Given the description of an element on the screen output the (x, y) to click on. 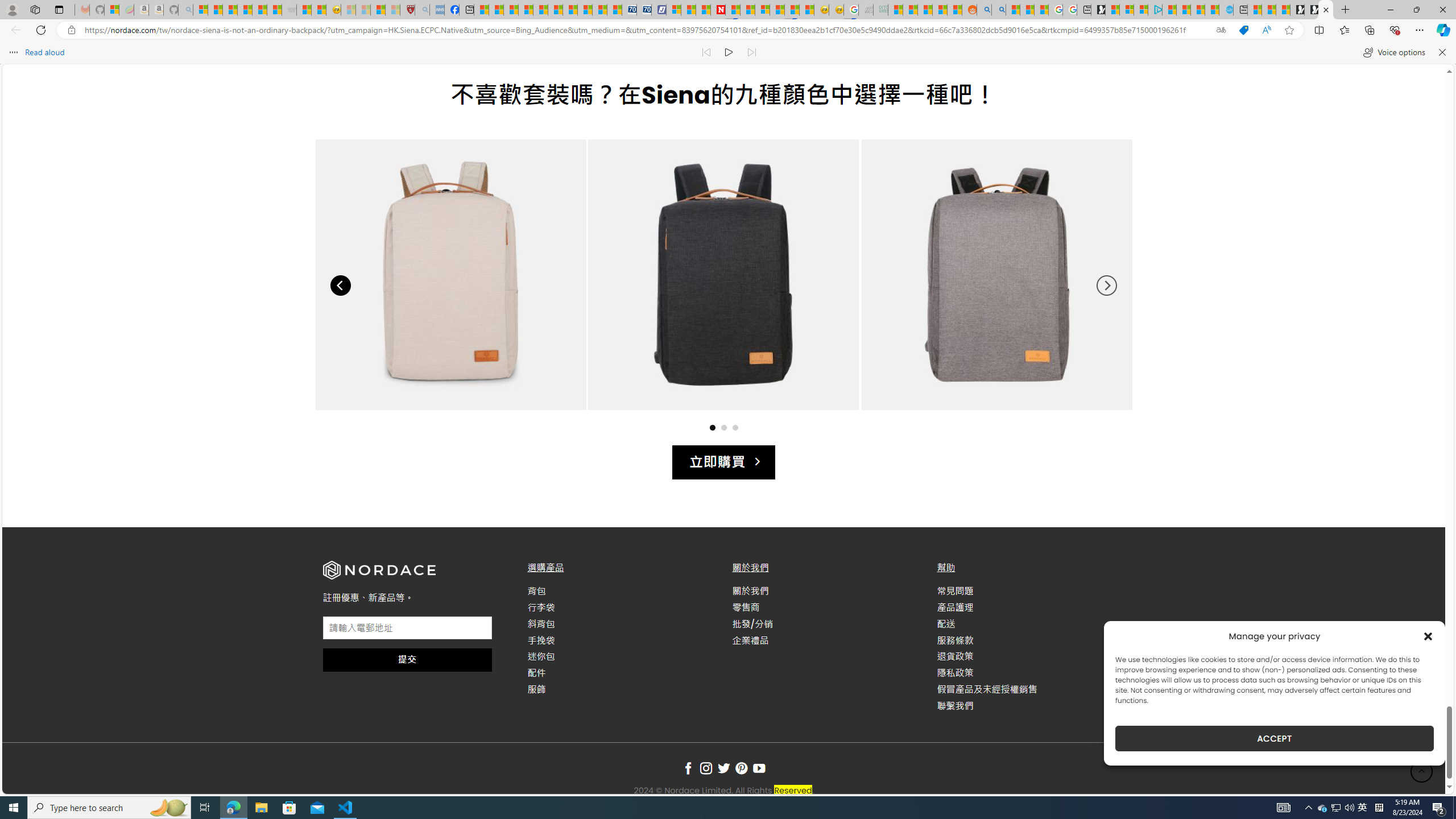
Page dot 3 (735, 427)
Follow on Twitter (723, 768)
New tab (1240, 9)
Class: cmplz-close (1428, 636)
list of asthma inhalers uk - Search - Sleeping (421, 9)
Follow on Facebook (687, 768)
Microsoft-Report a Concern to Bing (111, 9)
